Given the description of an element on the screen output the (x, y) to click on. 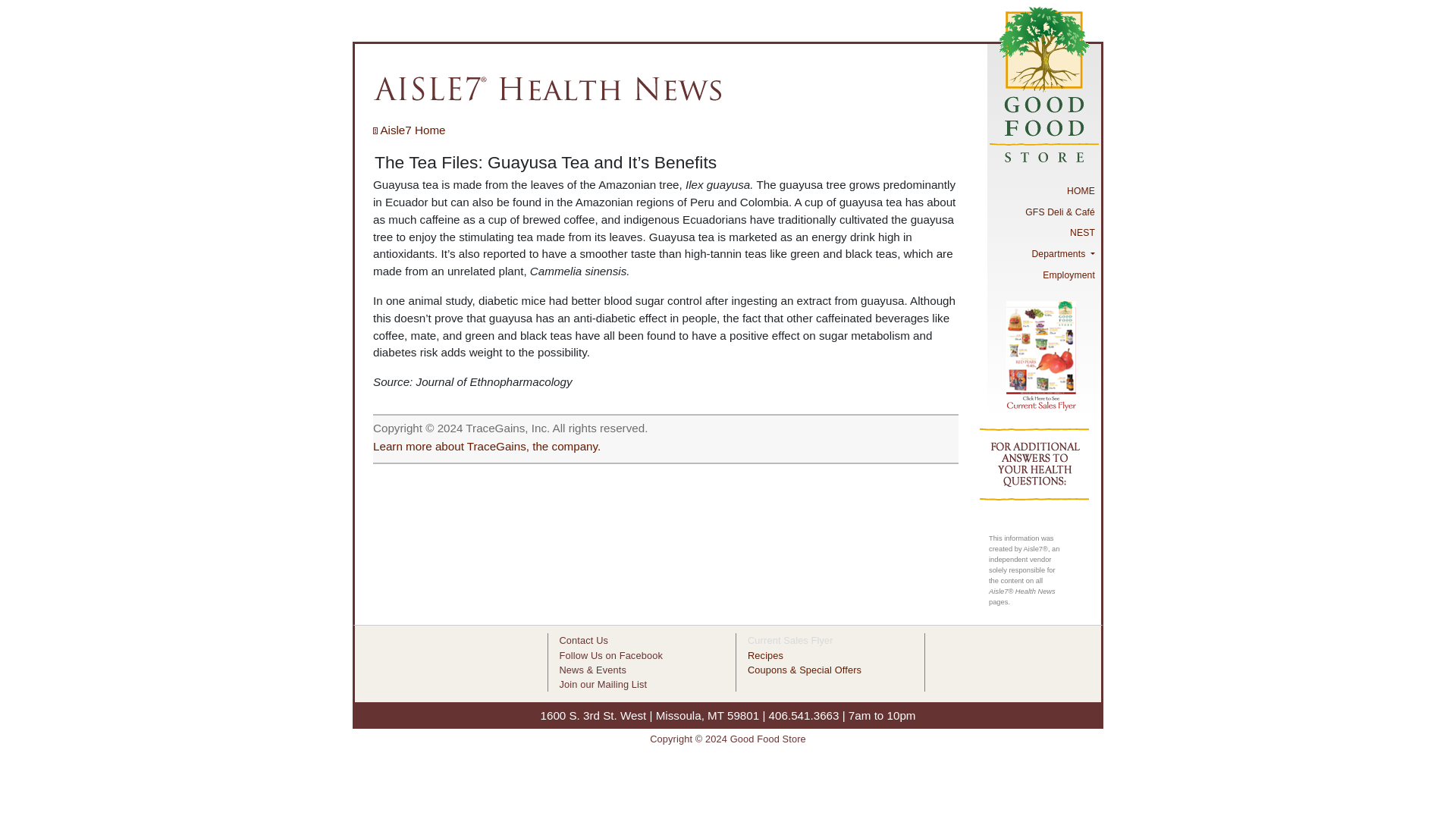
HOME (1043, 190)
Recipes (765, 655)
Aisle7 Home (408, 129)
Follow Us on Facebook (610, 655)
Current Sales Flyer (790, 640)
Join Us on Facebook (610, 655)
Learn more about TraceGains, the company. (485, 445)
Departments (1043, 253)
Join our Mailing List (603, 684)
NEST (1043, 233)
